Given the description of an element on the screen output the (x, y) to click on. 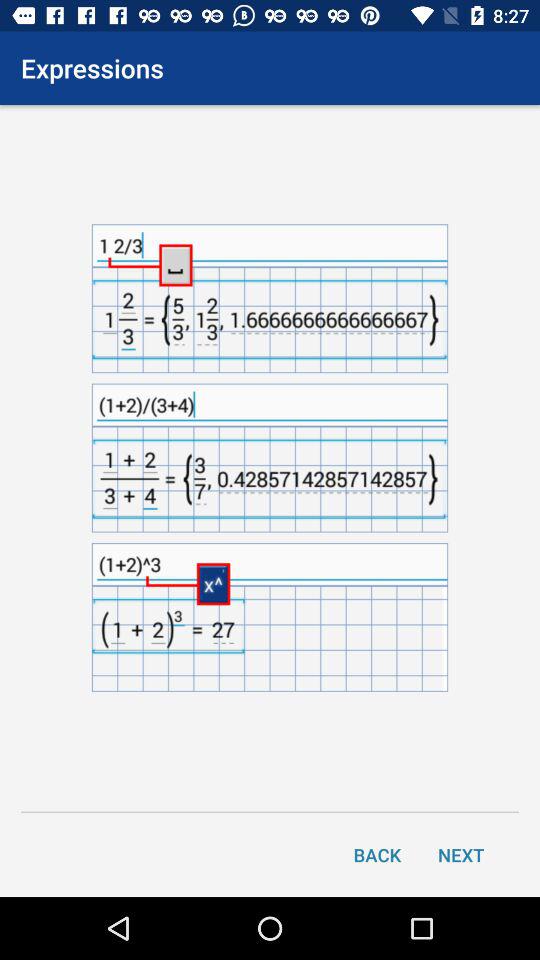
select the icon next to the back item (461, 854)
